Given the description of an element on the screen output the (x, y) to click on. 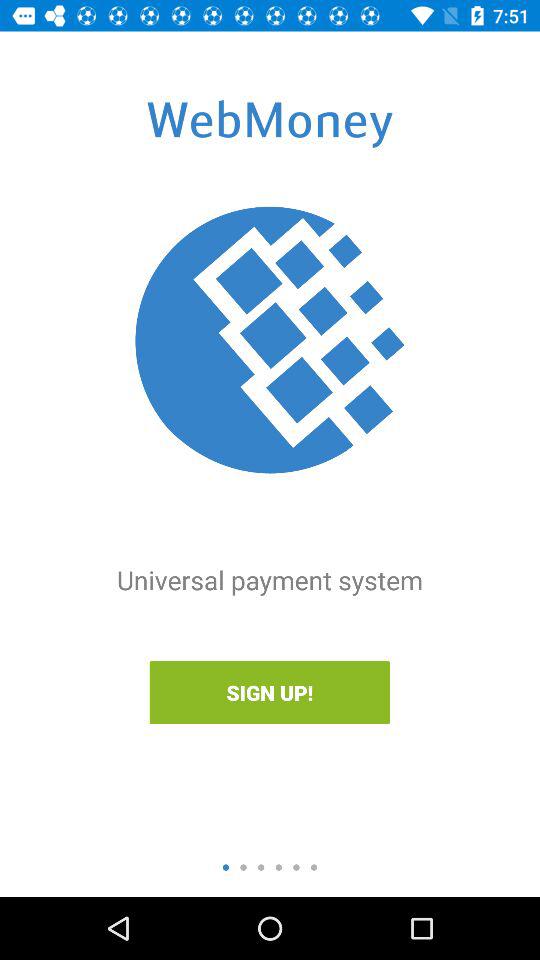
flip until the sign up! icon (269, 692)
